Given the description of an element on the screen output the (x, y) to click on. 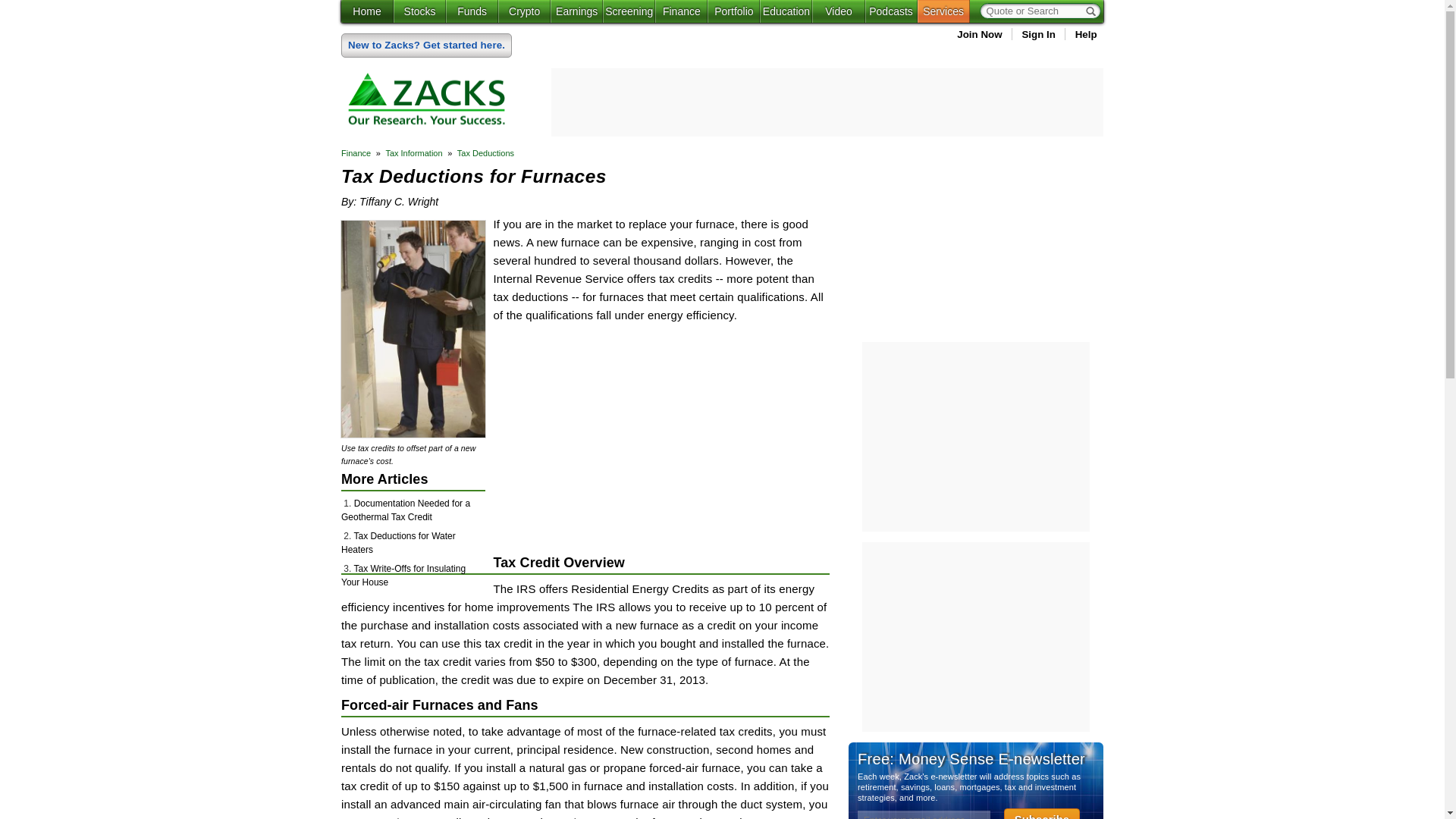
Finance (681, 11)
Portfolio (733, 11)
Tax Deductions for Furnaces (412, 433)
Funds (471, 11)
Earnings (576, 11)
Home (366, 11)
Subscribe (1042, 813)
Screening (628, 11)
Crypto (523, 11)
Stocks (419, 11)
